Given the description of an element on the screen output the (x, y) to click on. 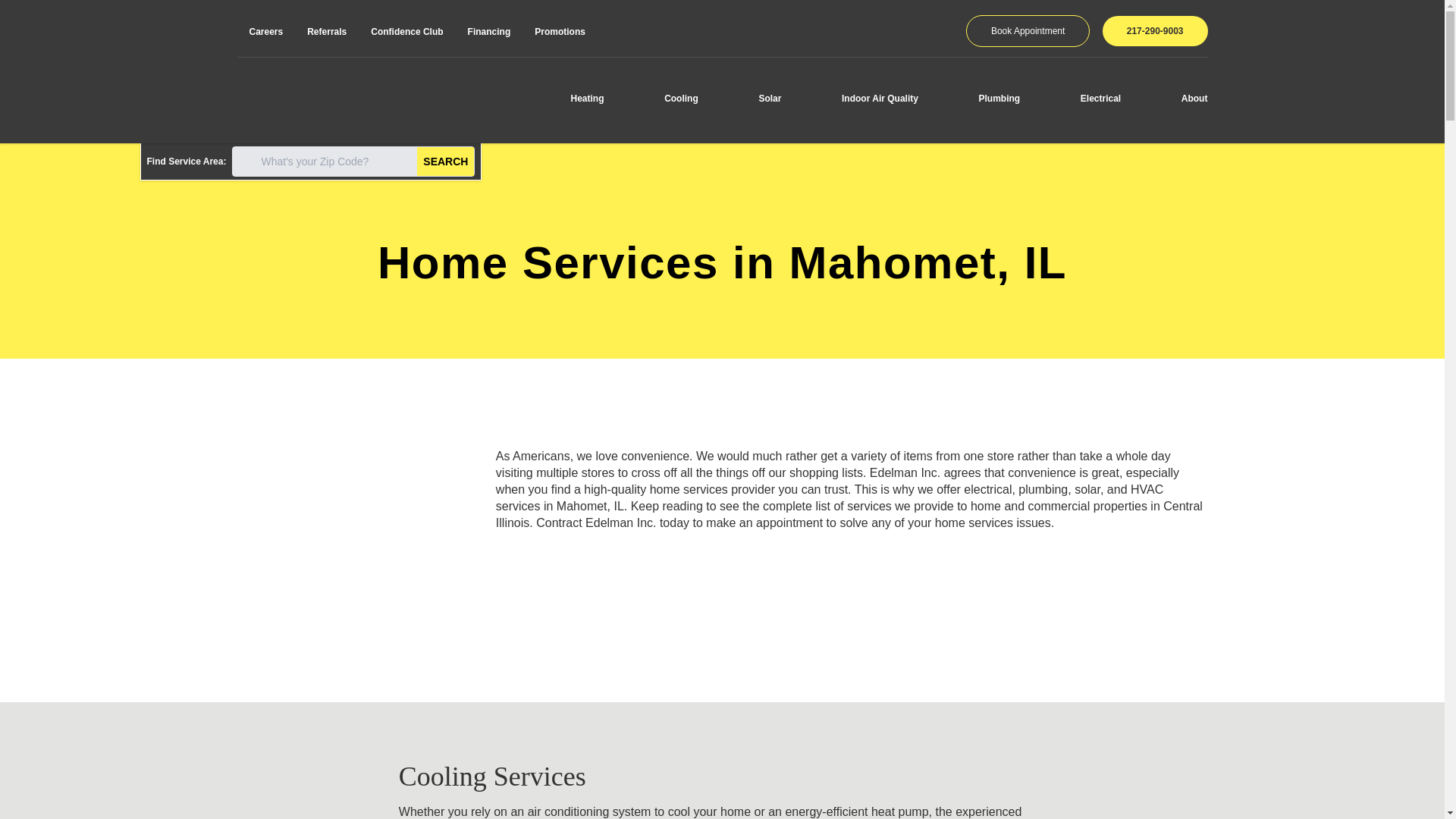
Book Appointment (1027, 30)
Solar (769, 97)
Referrals (326, 31)
Heating (587, 97)
Careers (265, 31)
Search (445, 161)
Indoor Air Quality (879, 97)
Promotions (559, 31)
217-290-9003 (1155, 30)
Confidence Club (406, 31)
Cooling (680, 97)
Financing (488, 31)
